Given the description of an element on the screen output the (x, y) to click on. 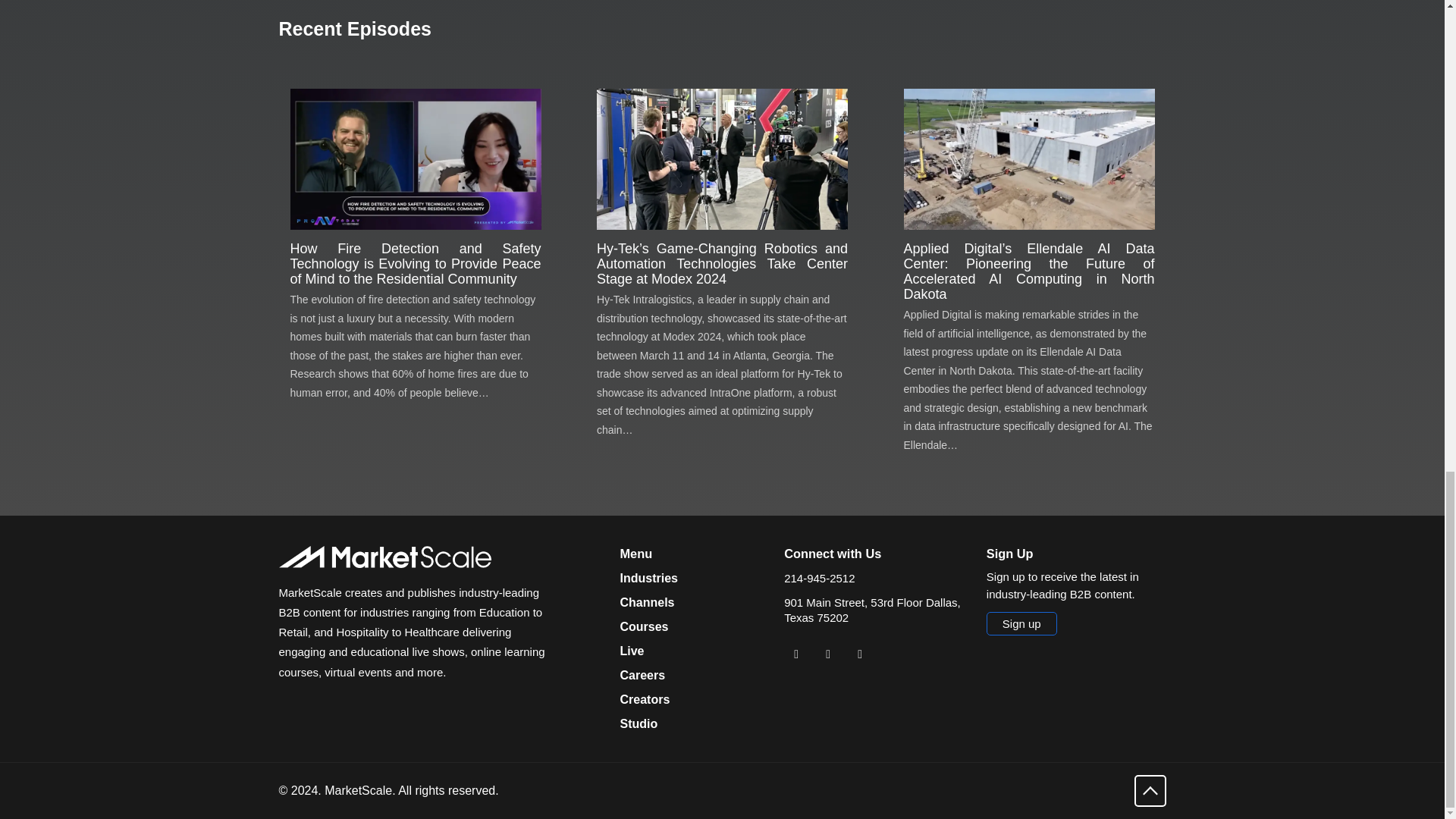
Share on X (827, 654)
Share on Instagram (859, 654)
Share on Linkedin (796, 654)
